Given the description of an element on the screen output the (x, y) to click on. 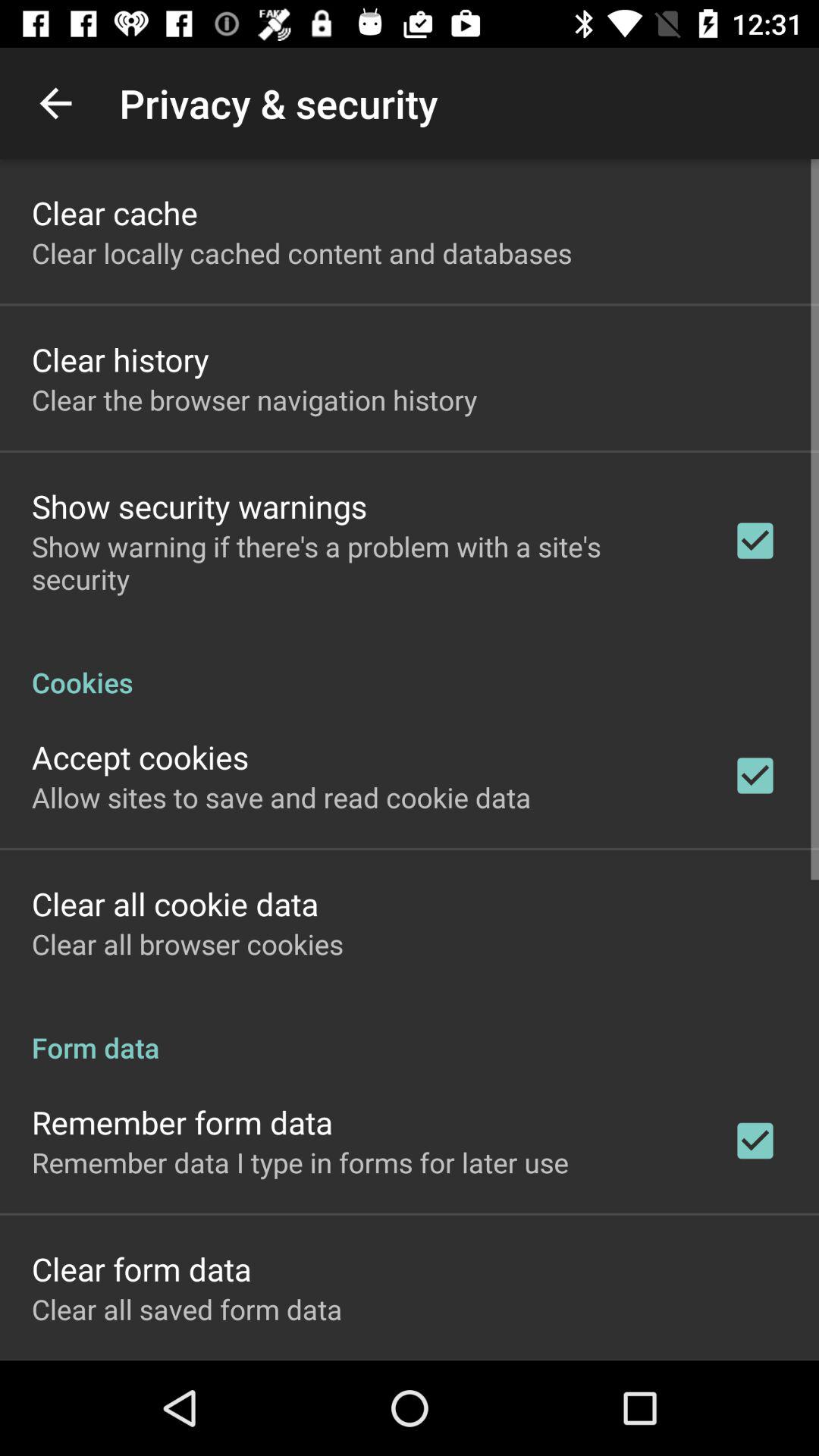
select the clear cache (114, 212)
